Given the description of an element on the screen output the (x, y) to click on. 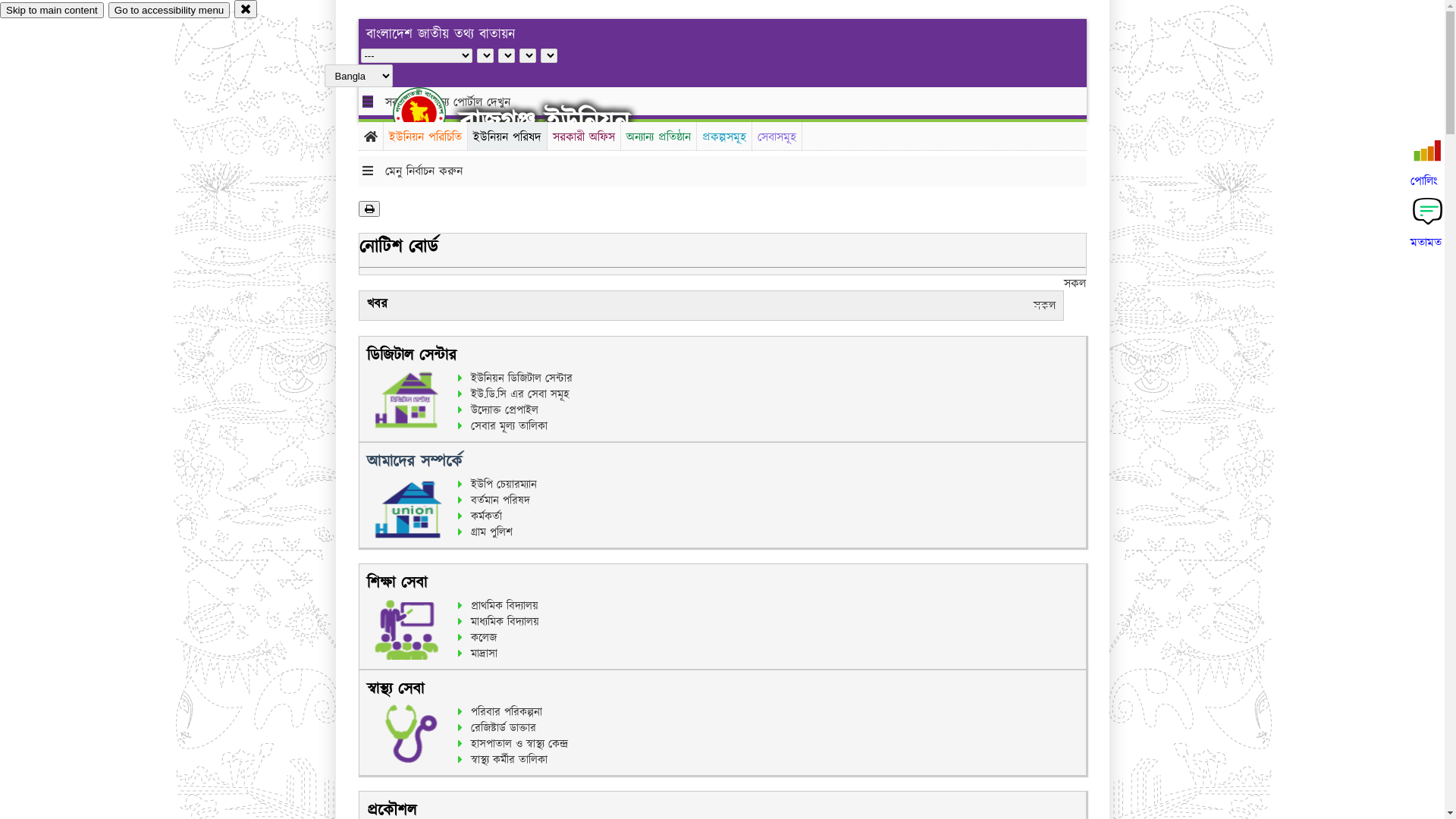
close Element type: hover (245, 9)
Go to accessibility menu Element type: text (168, 10)
Skip to main content Element type: text (51, 10)

                
             Element type: hover (431, 112)
